Given the description of an element on the screen output the (x, y) to click on. 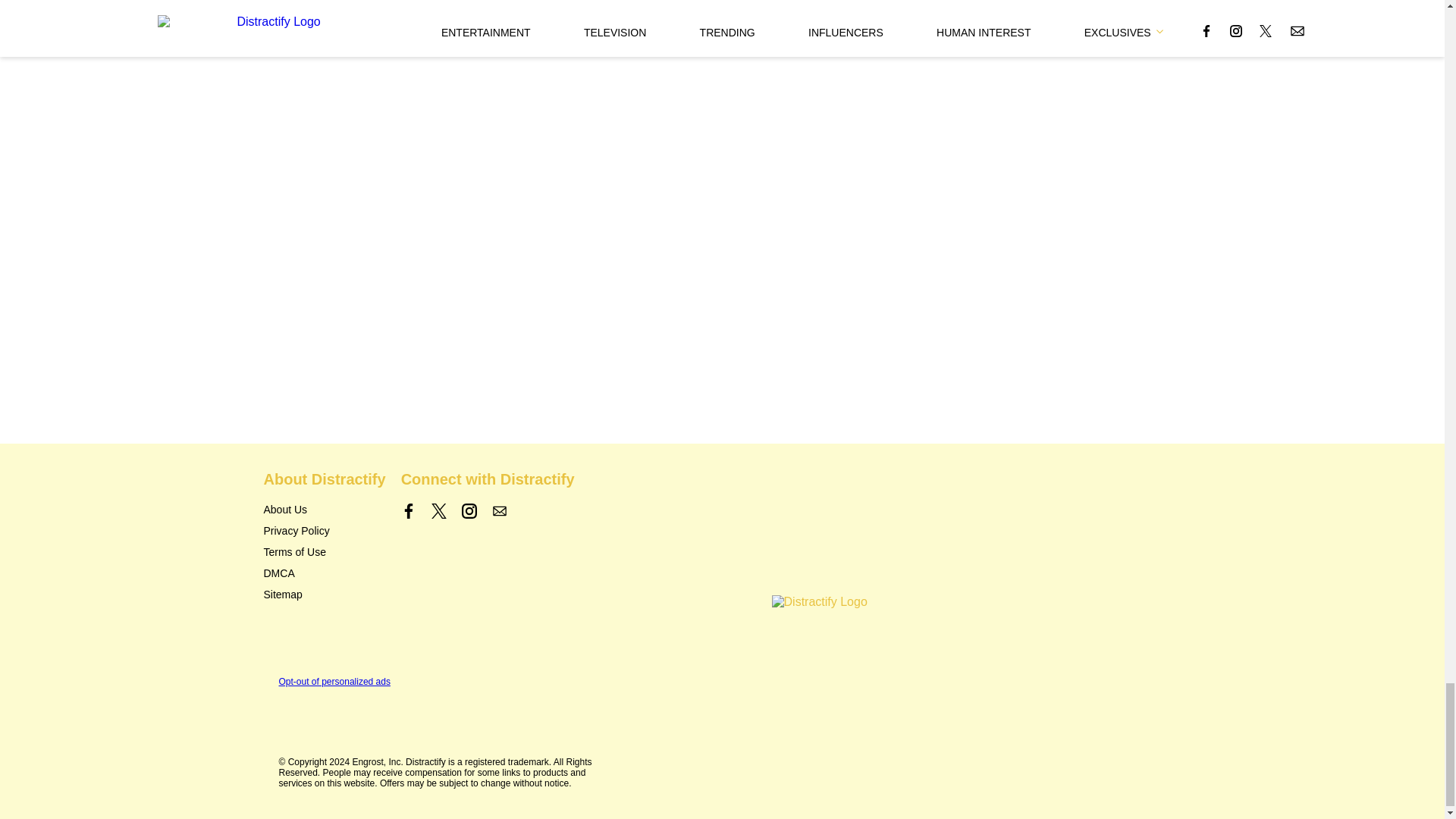
About Us (285, 509)
Contact us by Email (499, 510)
Link to Facebook (408, 510)
Terms of Use (294, 551)
About Us (285, 509)
Privacy Policy (296, 530)
Link to X (438, 510)
Privacy Policy (296, 530)
DMCA (279, 573)
Sitemap (282, 594)
